Given the description of an element on the screen output the (x, y) to click on. 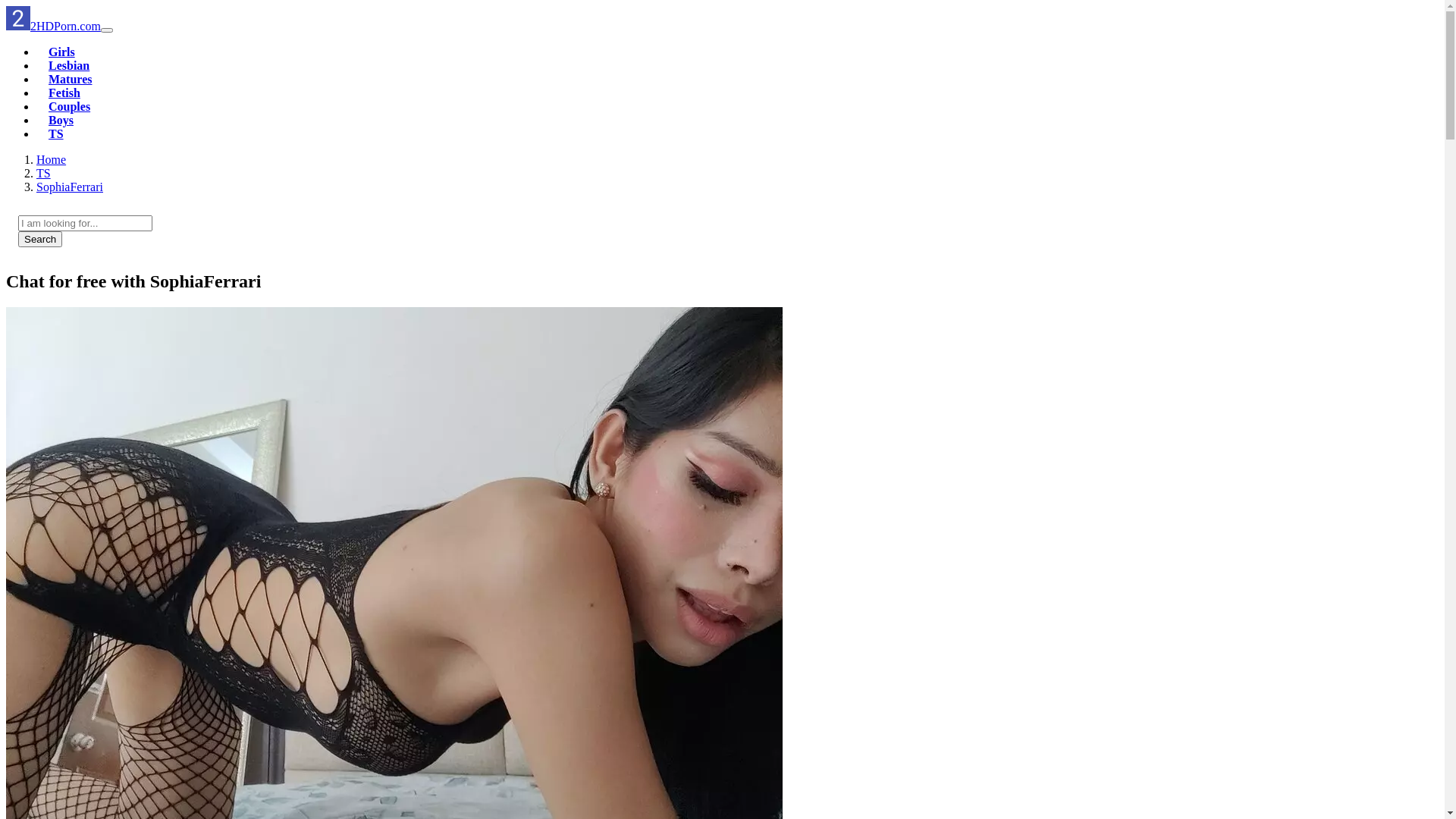
SophiaFerrari Element type: text (69, 186)
Boys Element type: text (60, 119)
Search Element type: text (40, 239)
2HDPorn.com Element type: text (53, 25)
Lesbian Element type: text (68, 65)
Girls Element type: text (61, 51)
TS Element type: text (55, 133)
Couples Element type: text (69, 106)
Fetish Element type: text (64, 92)
Matures Element type: text (69, 78)
Home Element type: text (50, 159)
TS Element type: text (43, 172)
